Given the description of an element on the screen output the (x, y) to click on. 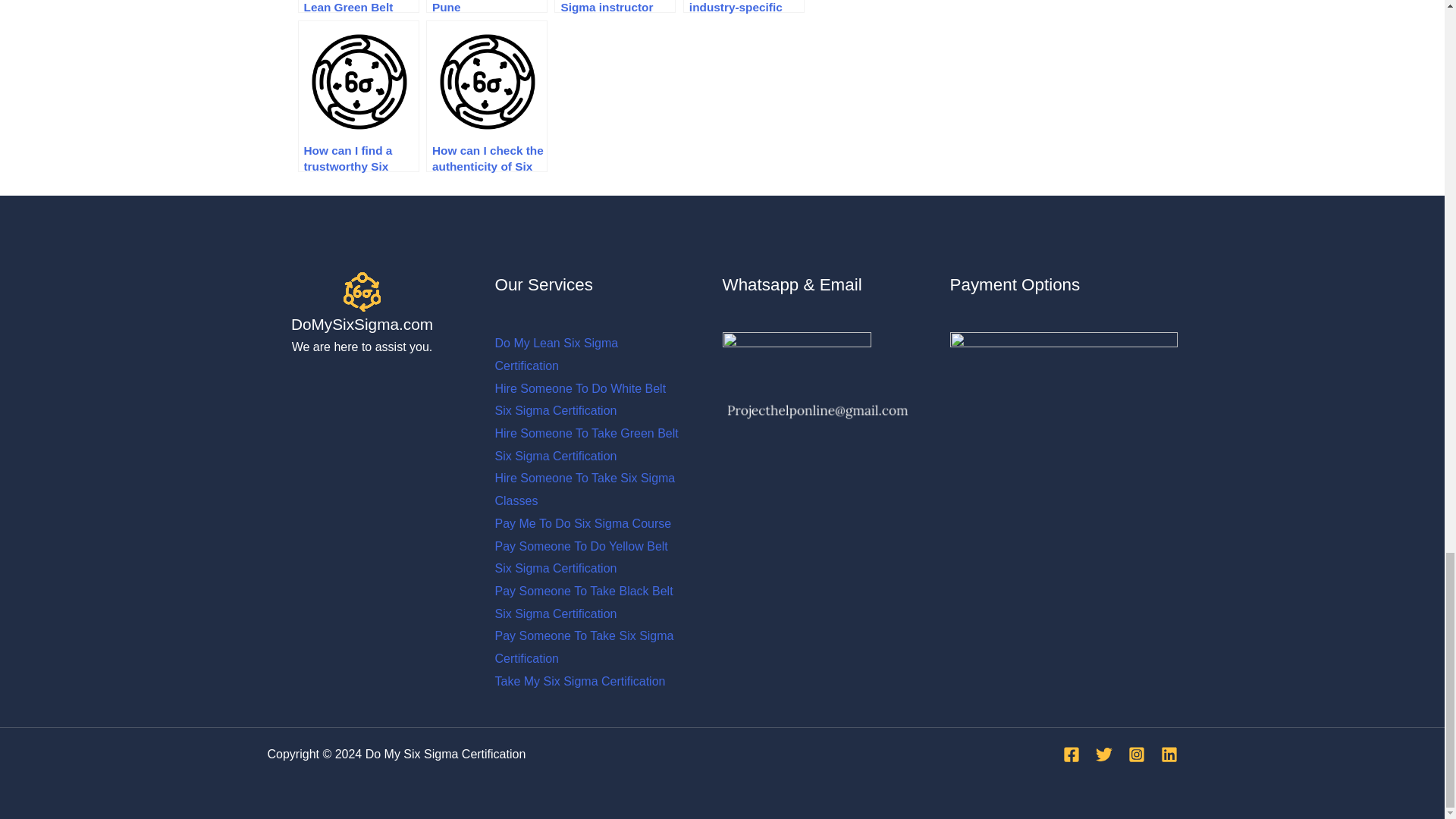
What Is a Six Sigma Lean Green Belt Certification? (358, 6)
Six Sigma Jobs in Pune (486, 6)
Six Sigma Jobs in Pune (486, 6)
What Is a Six Sigma Lean Green Belt Certification? (358, 6)
